Given the description of an element on the screen output the (x, y) to click on. 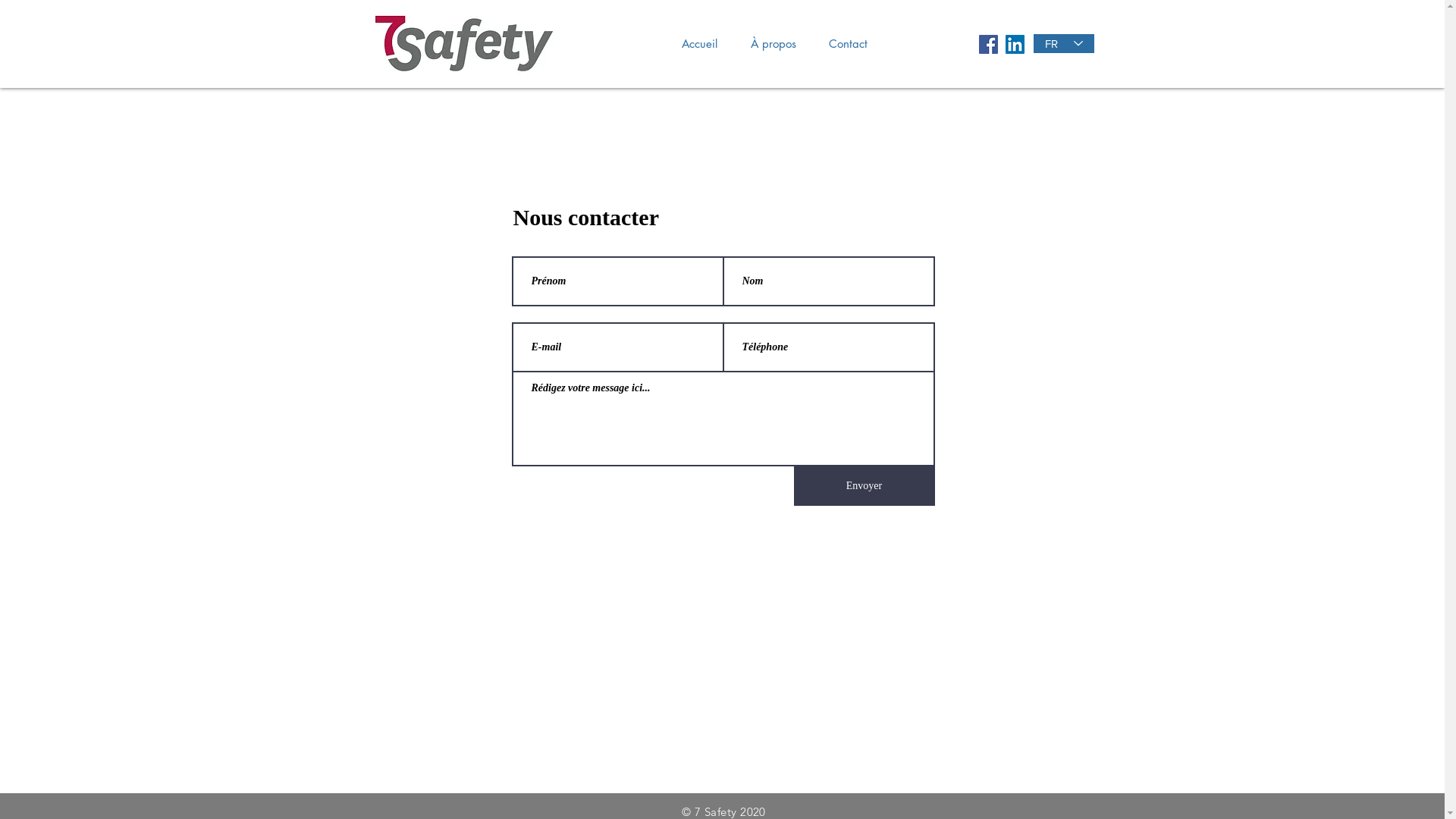
Envoyer Element type: text (863, 485)
Contact Element type: text (842, 43)
Accueil Element type: text (693, 43)
